Given the description of an element on the screen output the (x, y) to click on. 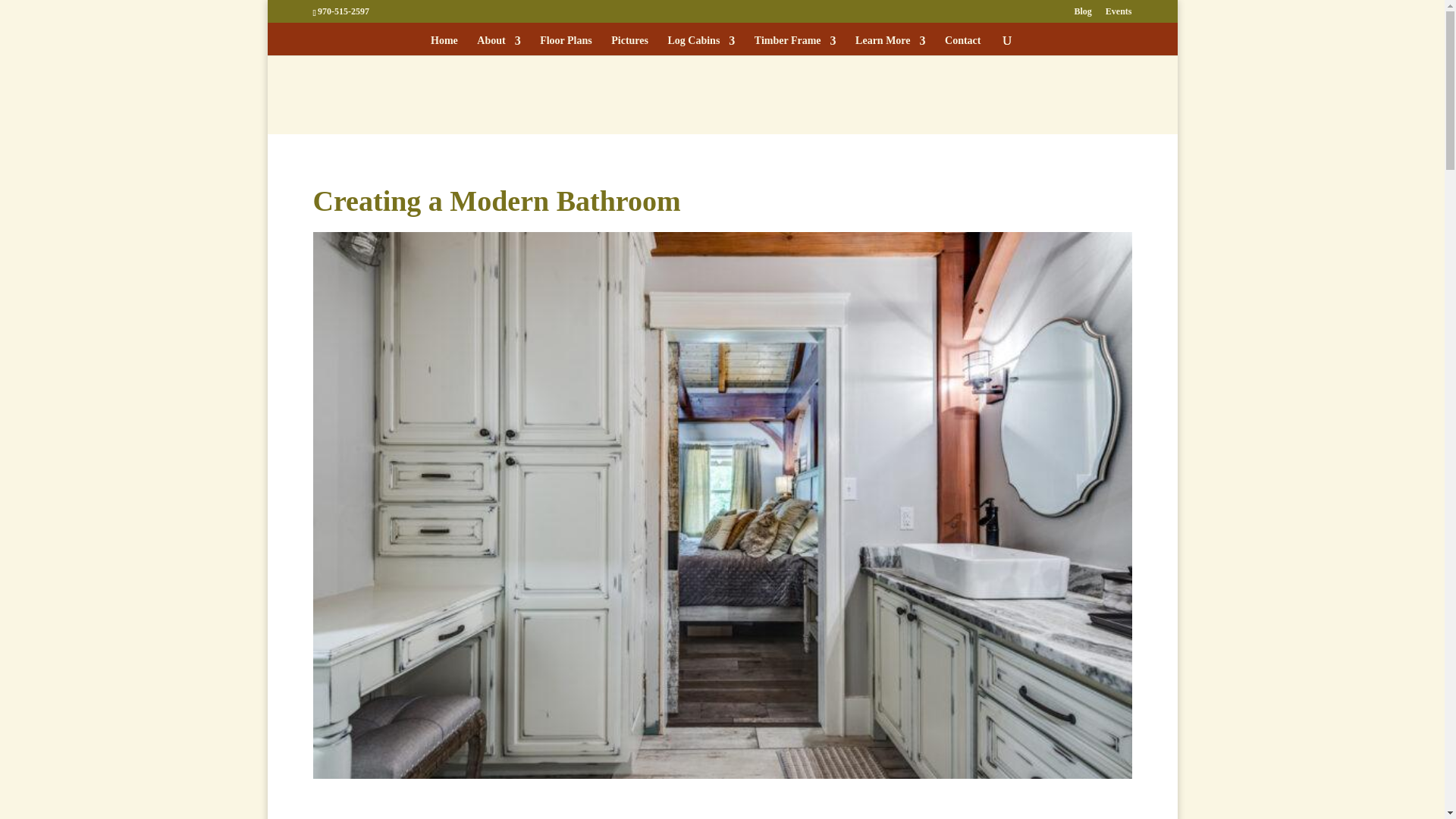
Floor Plans (566, 45)
Log Cabins (700, 45)
Home (444, 45)
Learn More (890, 45)
Pictures (629, 45)
Contact (961, 45)
About (498, 45)
Timber Frame (794, 45)
Blog (1082, 14)
Events (1118, 14)
